Given the description of an element on the screen output the (x, y) to click on. 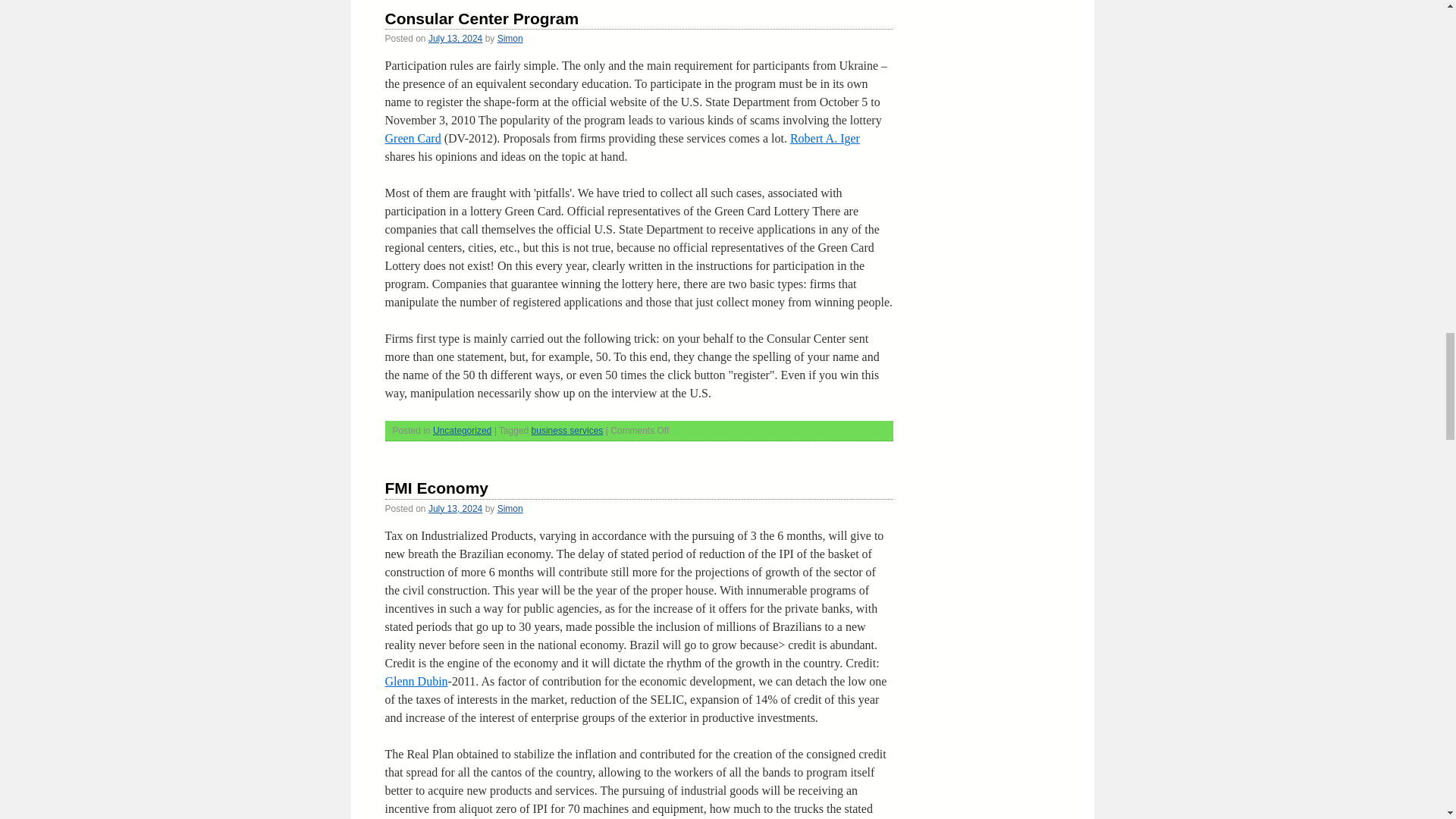
9:48 pm (454, 38)
Permalink to Consular Center Program (482, 18)
Consular Center Program (482, 18)
July 13, 2024 (454, 38)
Simon (509, 38)
Green Card (413, 137)
